Given the description of an element on the screen output the (x, y) to click on. 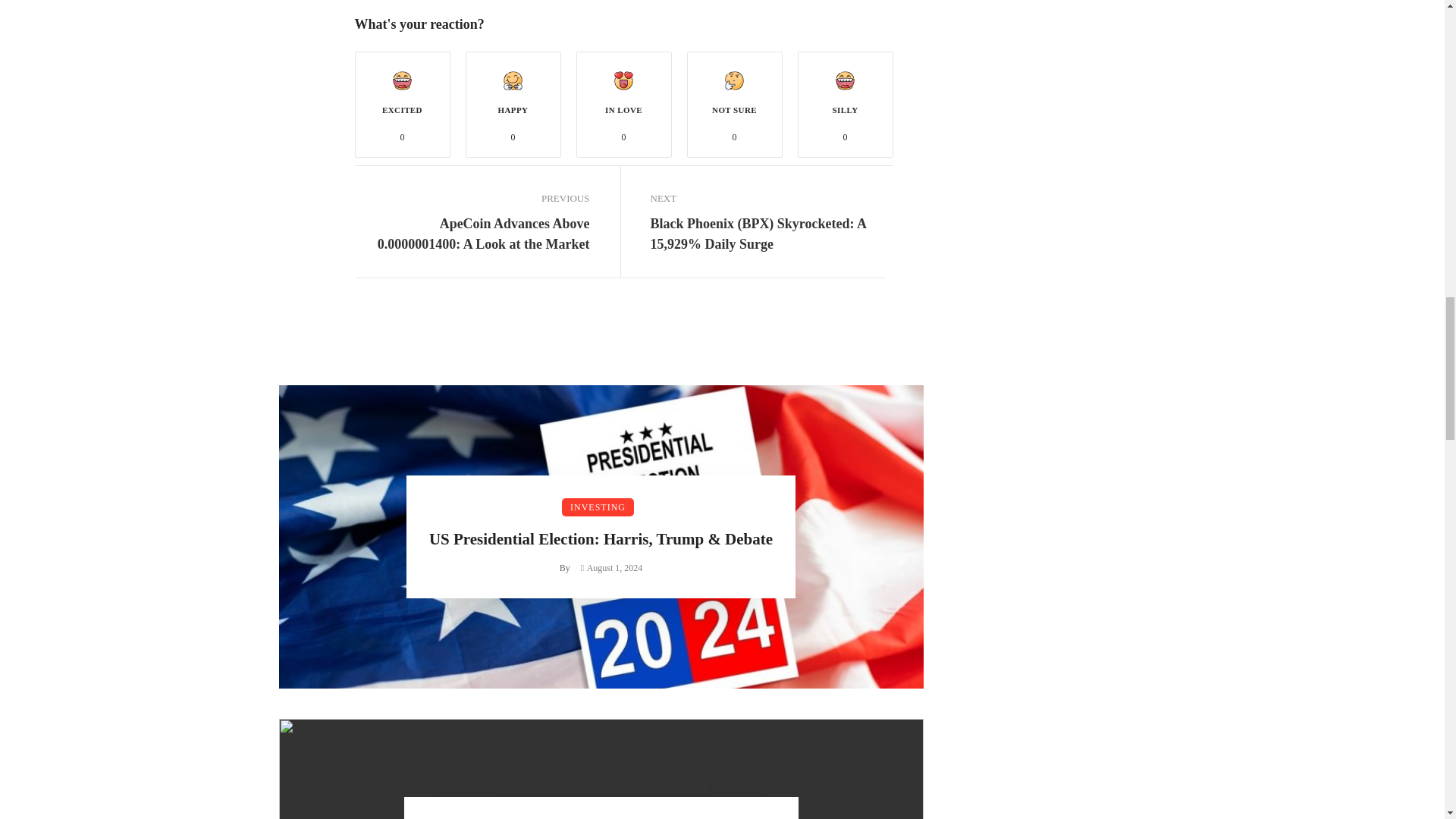
ApeCoin Advances Above 0.0000001400: A Look at the Market (472, 233)
PREVIOUS (472, 198)
NEXT (767, 198)
INVESTING (597, 506)
